Given the description of an element on the screen output the (x, y) to click on. 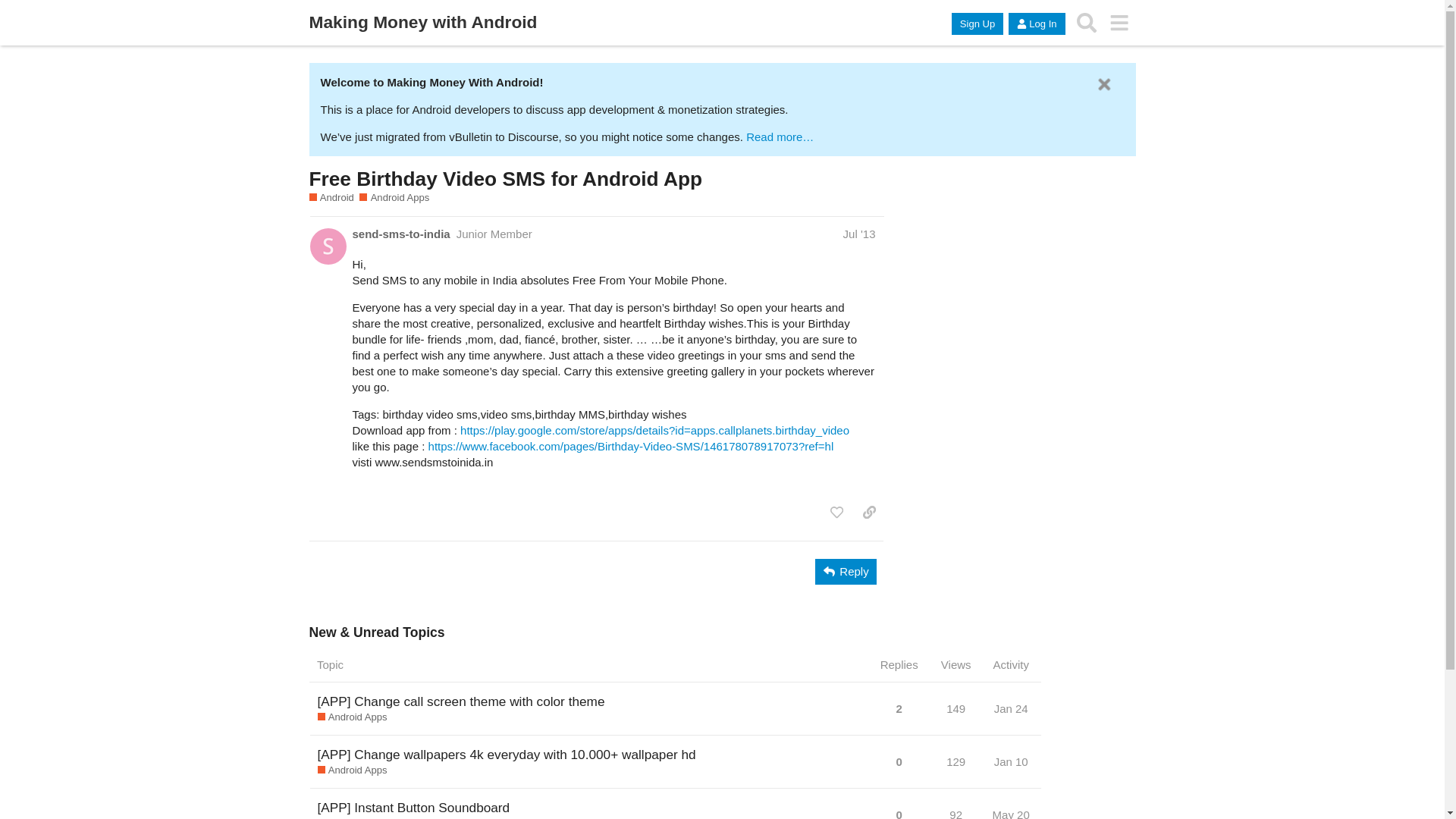
May 20 (1010, 807)
Android Apps (352, 770)
Created: Jan 10, 2024 3:33 pm (1012, 761)
Jan 10 (1011, 761)
Free Birthday Video SMS for Android App (505, 178)
Dismiss this banner (1104, 84)
Android Apps (394, 197)
Android (330, 197)
send-sms-to-india (400, 233)
This topic has 2 replies (898, 713)
menu (1119, 22)
This topic has 0 replies (898, 761)
Jul '13 (859, 233)
like this post (836, 512)
